Given the description of an element on the screen output the (x, y) to click on. 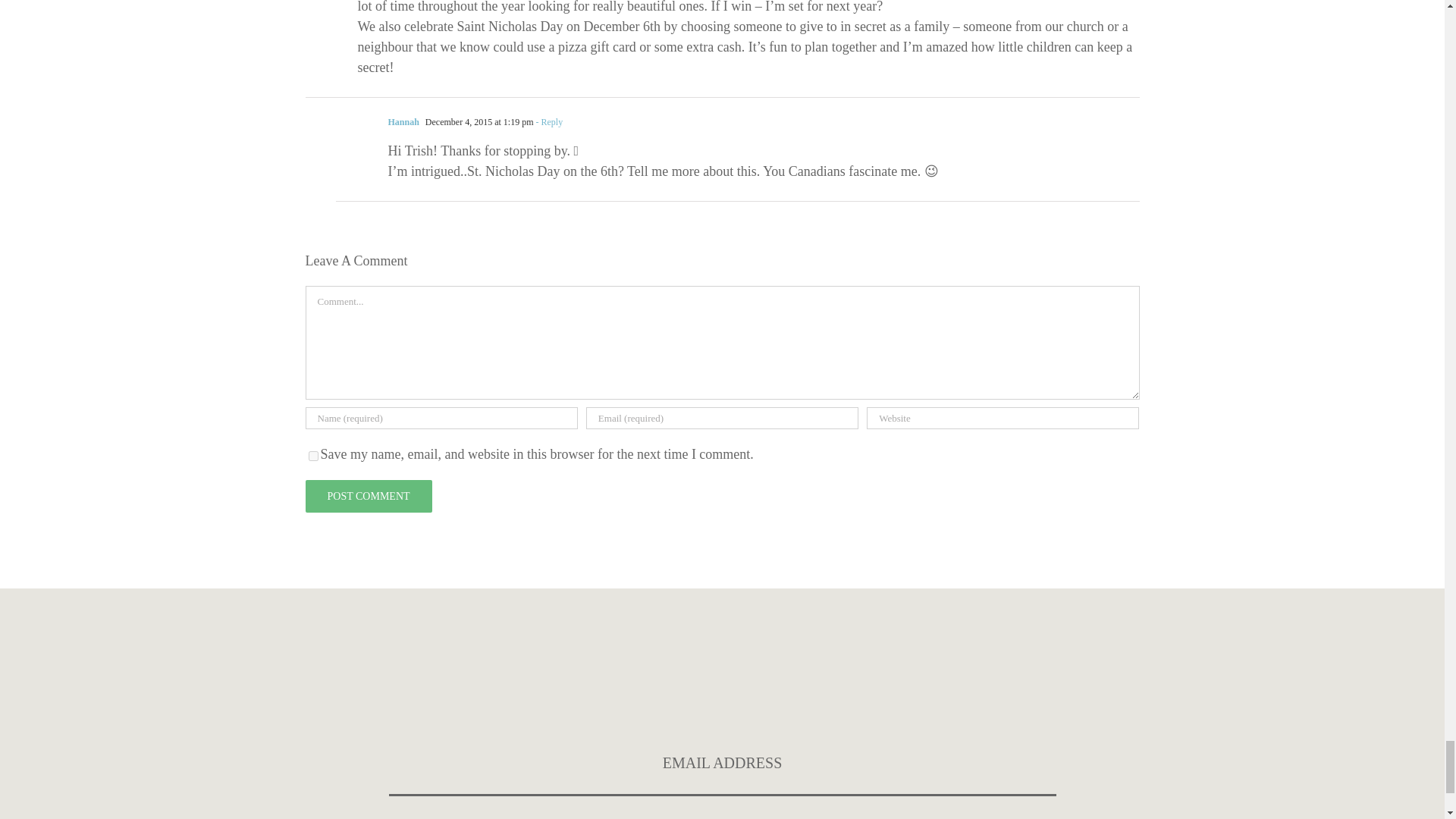
EMAIL ADDRESS (721, 764)
Post Comment (367, 495)
yes (312, 456)
